Given the description of an element on the screen output the (x, y) to click on. 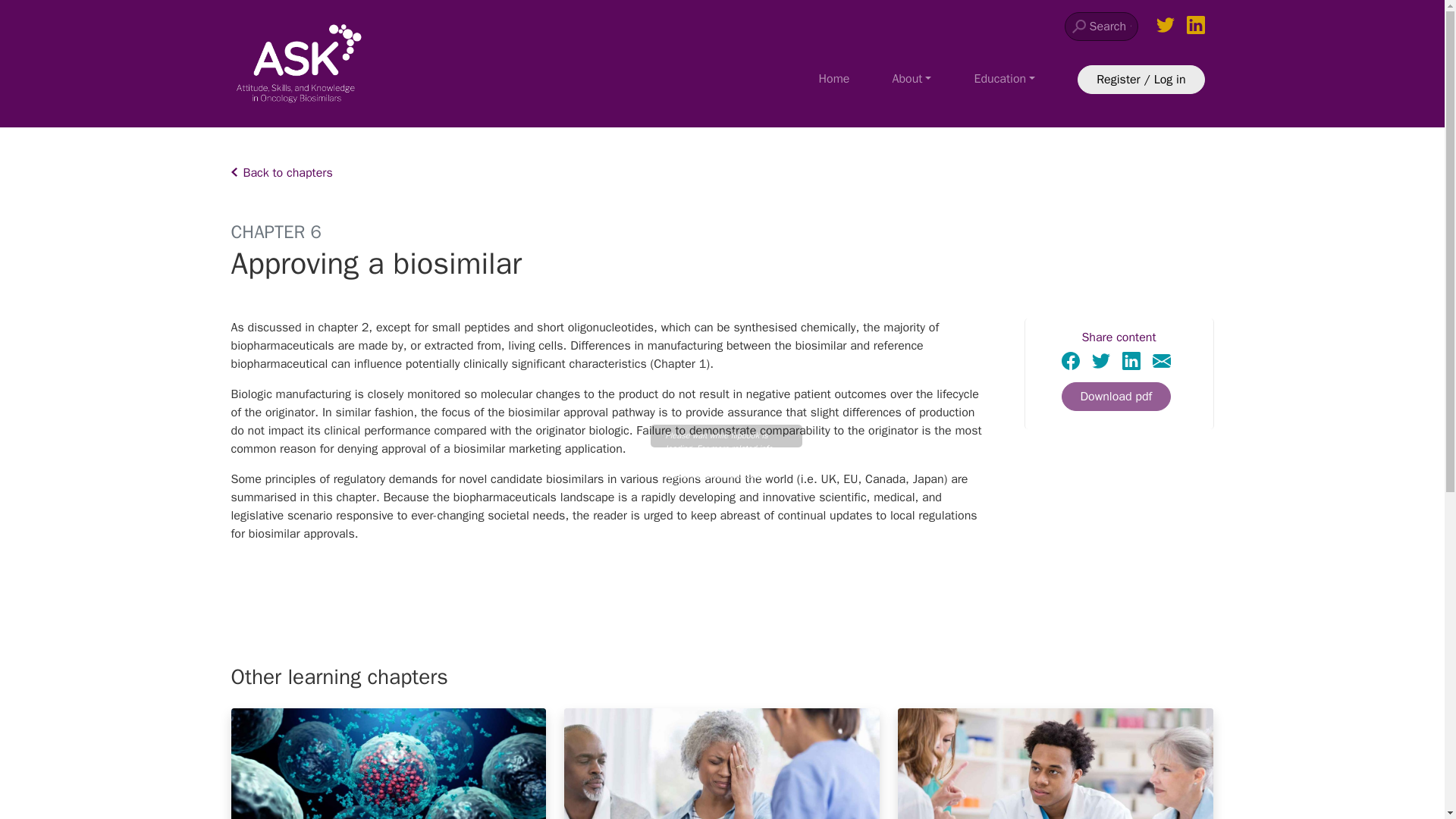
Back to chapters (721, 172)
Twitter (1100, 361)
Education (1004, 78)
LinkedIn (1131, 359)
Twitter (1101, 359)
About (911, 78)
Email (1161, 359)
LinkedIn (1131, 361)
Facebook (1070, 361)
Home (834, 78)
